Given the description of an element on the screen output the (x, y) to click on. 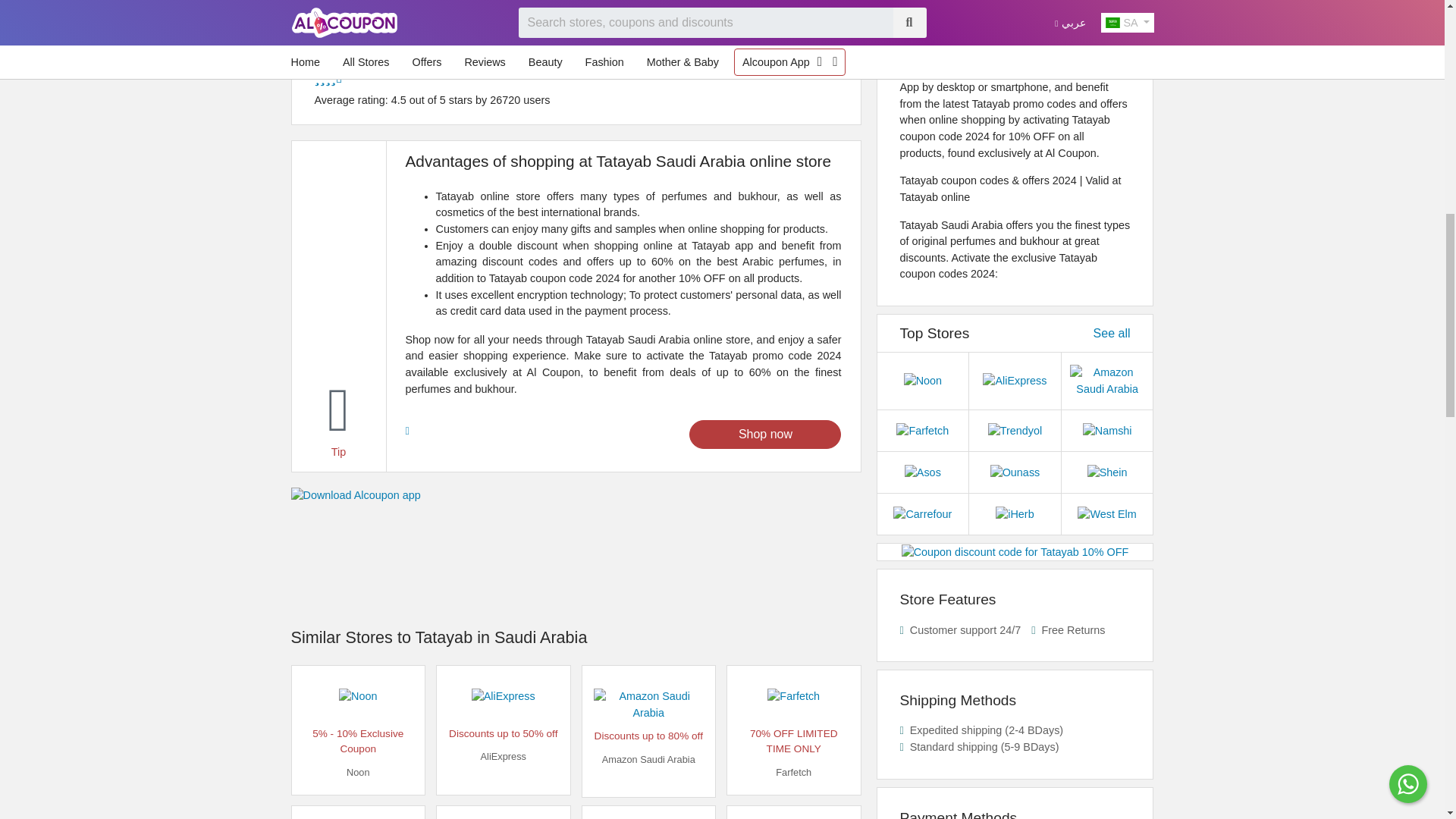
Shop now (764, 434)
